Given the description of an element on the screen output the (x, y) to click on. 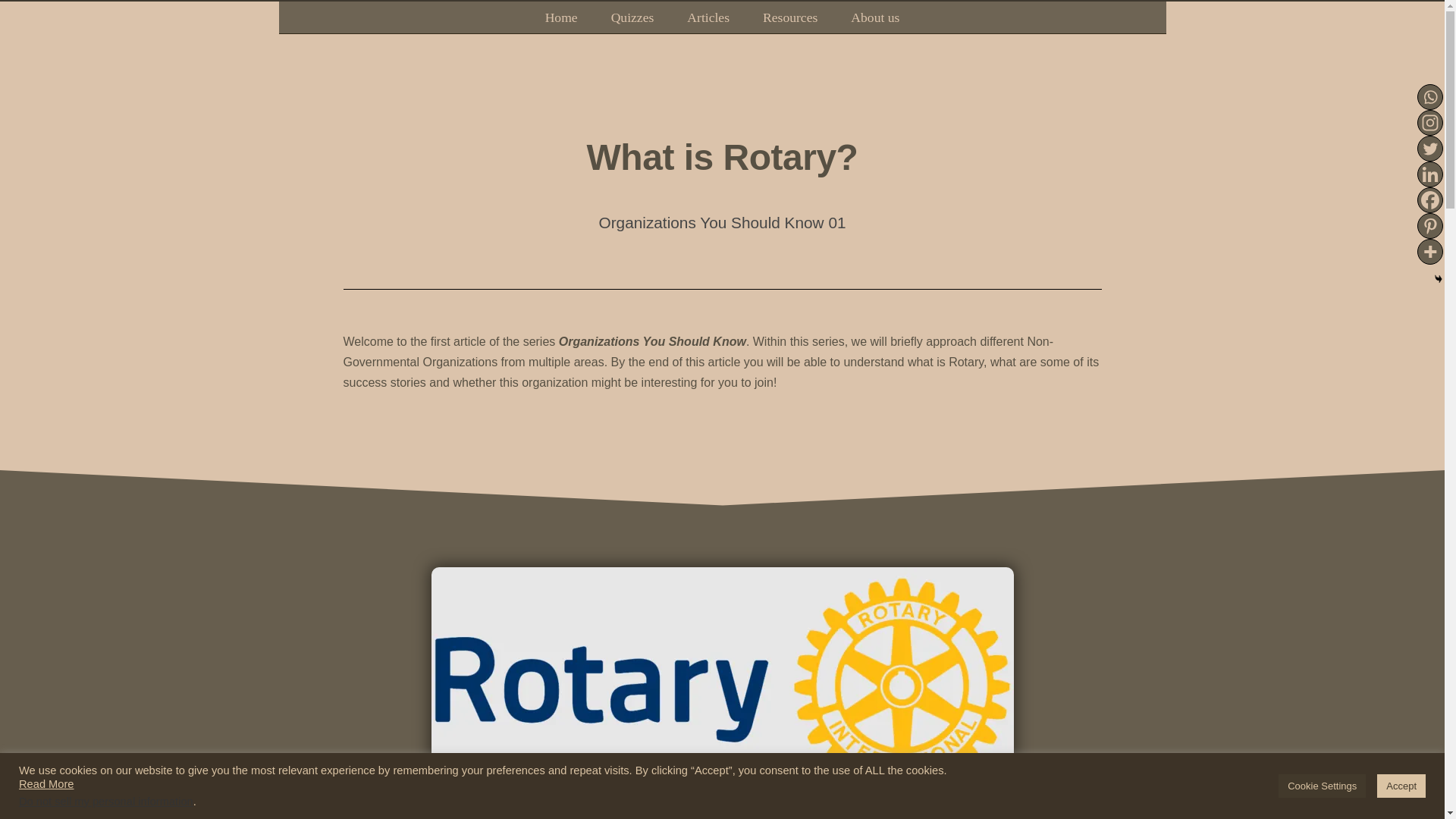
Linkedin (1429, 174)
More (1429, 251)
Quizzes (632, 16)
Facebook (1429, 199)
Skip to content (11, 31)
Do not sell my personal information (105, 801)
Pinterest (1429, 225)
Read More (46, 784)
Whatsapp (1429, 96)
Home (561, 16)
